Given the description of an element on the screen output the (x, y) to click on. 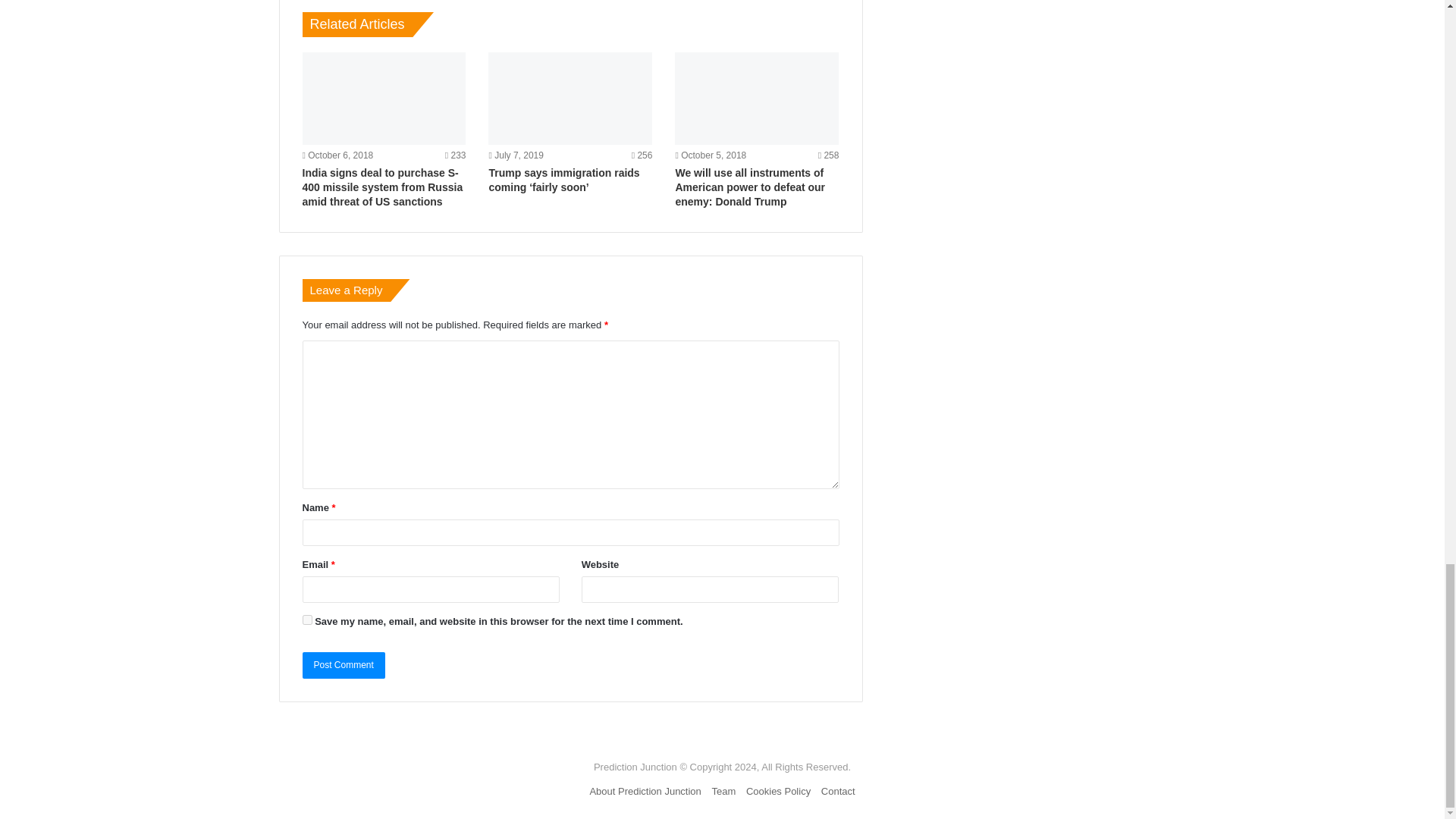
Post Comment (342, 664)
Post Comment (342, 664)
yes (306, 619)
